Given the description of an element on the screen output the (x, y) to click on. 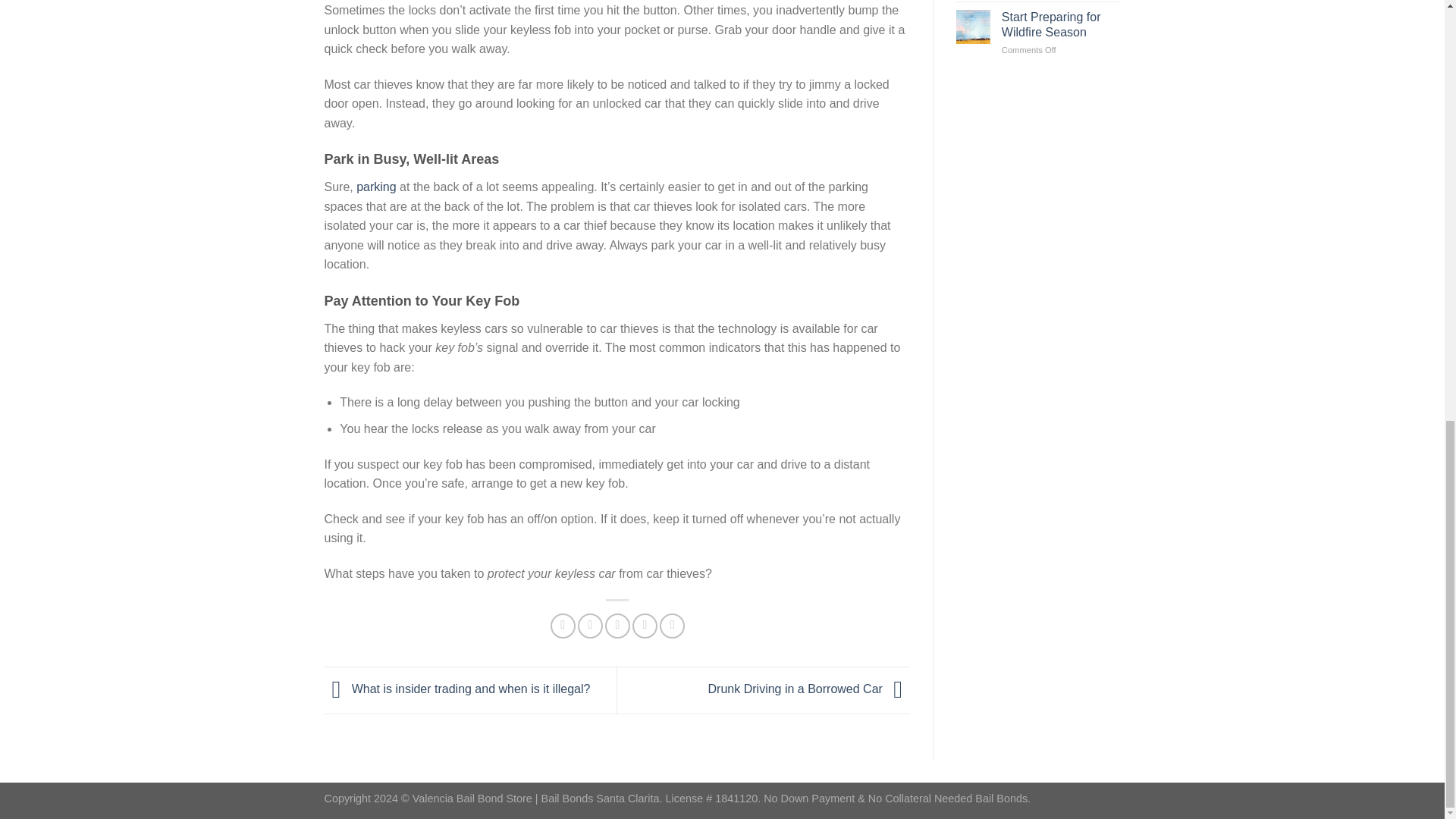
Drunk Driving in a Borrowed Car (808, 689)
The Truth About Parking Lot Safety (376, 186)
parking (376, 186)
Start Preparing for Wildfire Season (1061, 23)
What is insider trading and when is it illegal? (457, 689)
